Given the description of an element on the screen output the (x, y) to click on. 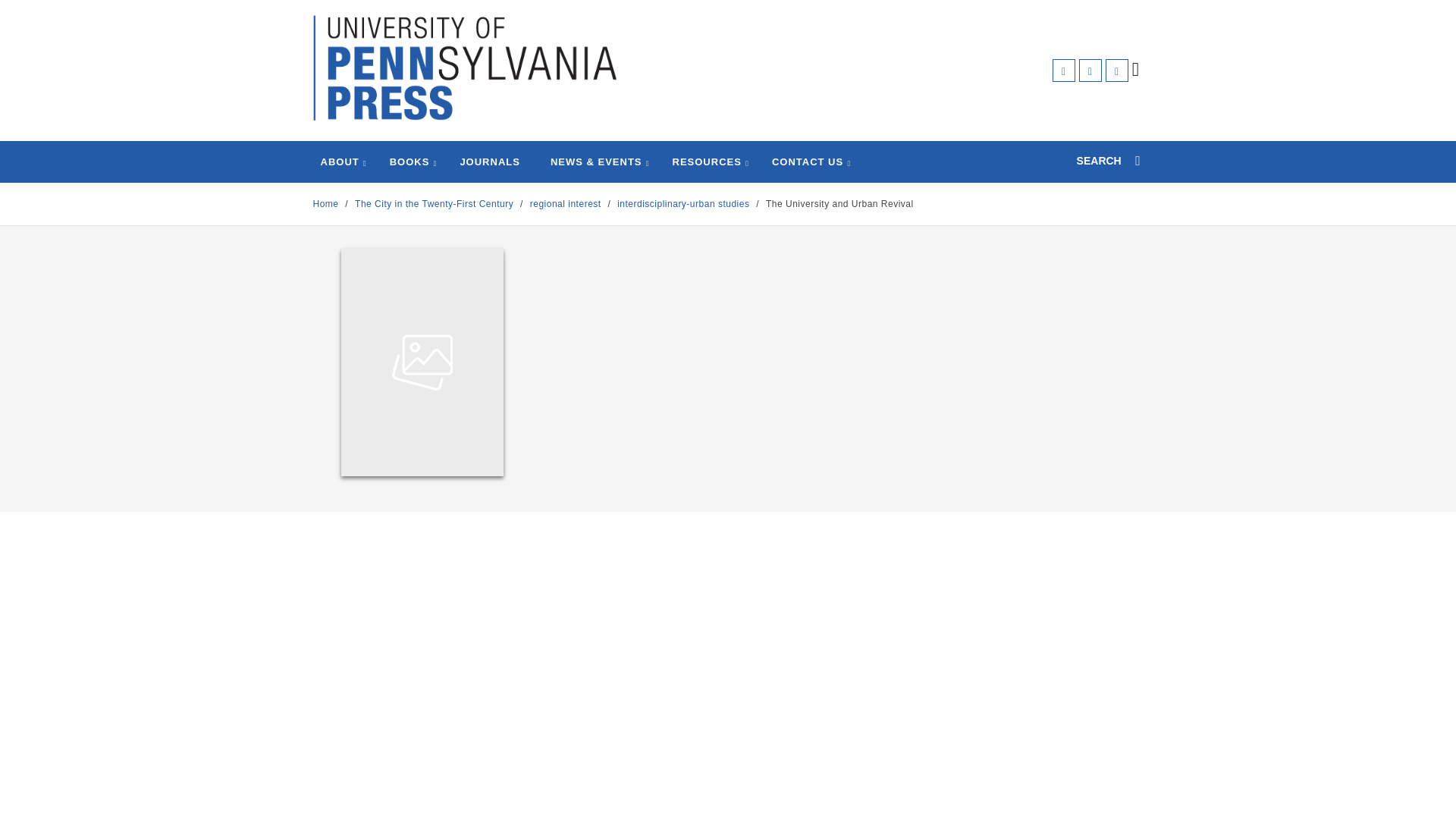
Follow us on Instagram (1116, 69)
BOOKS (409, 161)
RESOURCES (706, 161)
Back to homepage (325, 204)
ABOUT (339, 161)
View results for interdisciplinary-urban studies (683, 204)
View results for regional interest (565, 204)
Follow us on Facebook (1063, 69)
JOURNALS (489, 161)
View results for The City in the Twenty-First Century (435, 204)
